Given the description of an element on the screen output the (x, y) to click on. 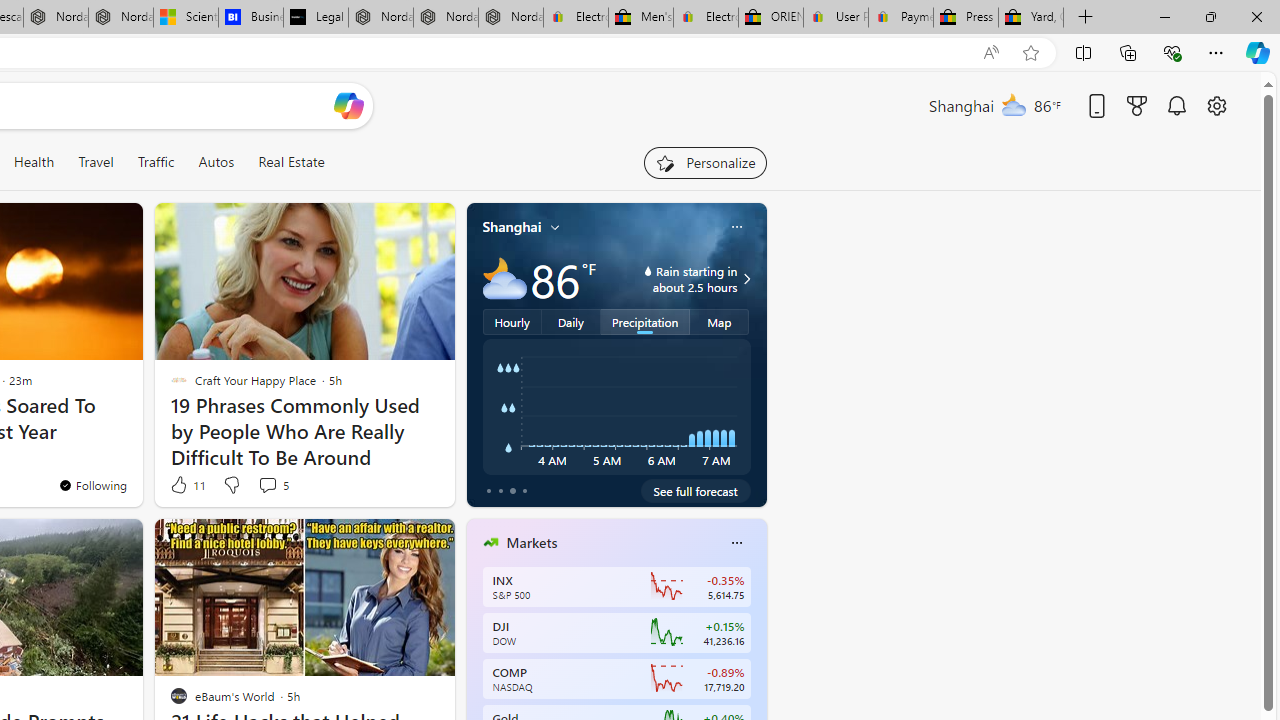
previous (476, 670)
Dislike (230, 484)
User Privacy Notice | eBay (835, 17)
Travel (95, 161)
Markets (531, 543)
Health (34, 161)
See full forecast (695, 490)
Traffic (155, 161)
